Given the description of an element on the screen output the (x, y) to click on. 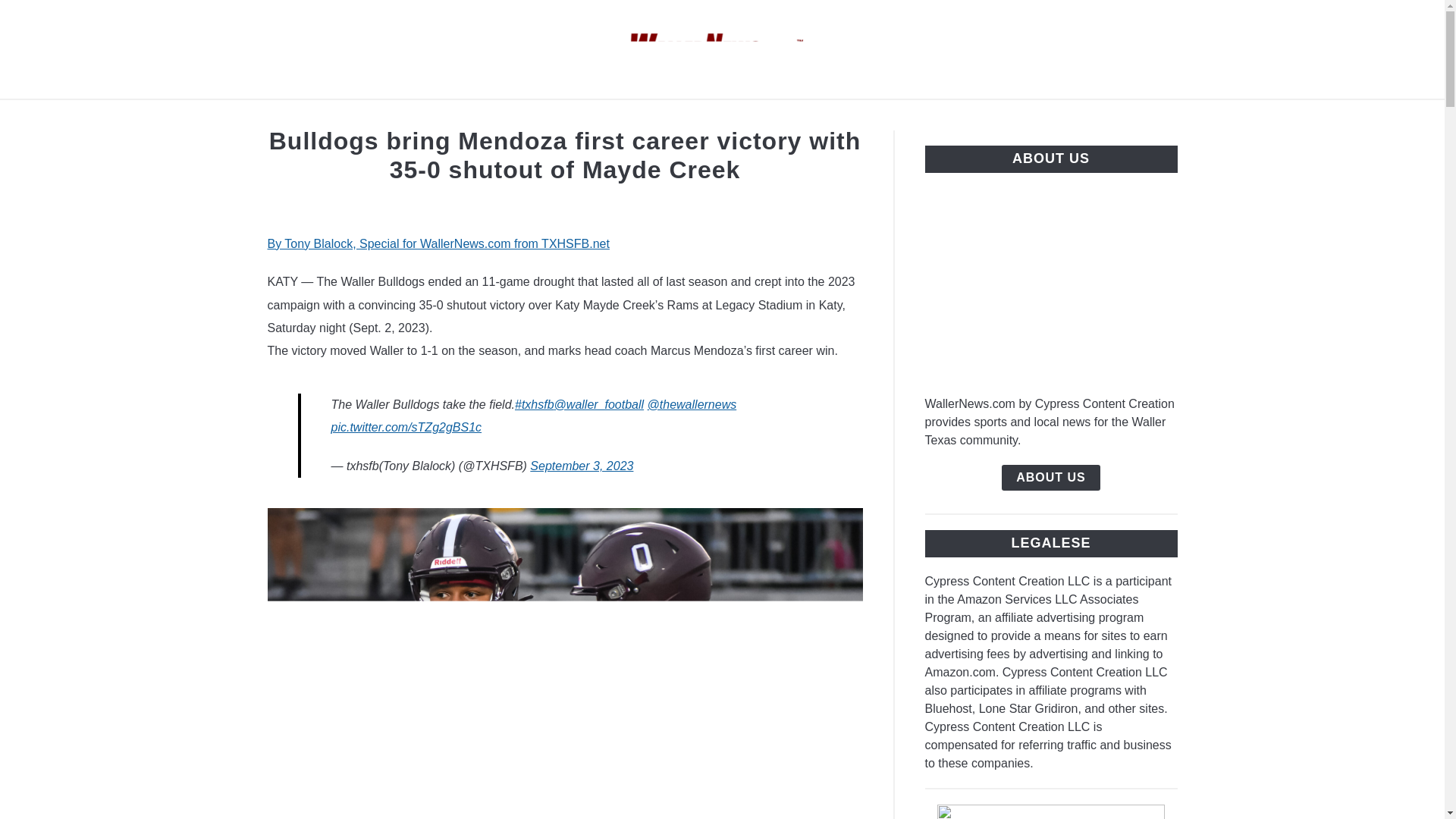
PRIVACY POLICY (758, 117)
Search (1203, 49)
ABOUT US (879, 117)
HOME (549, 117)
September 3, 2023 (581, 465)
By Tony Blalock, Special for WallerNews.com from TXHSFB.net (437, 243)
FOOTBALL (636, 117)
